Given the description of an element on the screen output the (x, y) to click on. 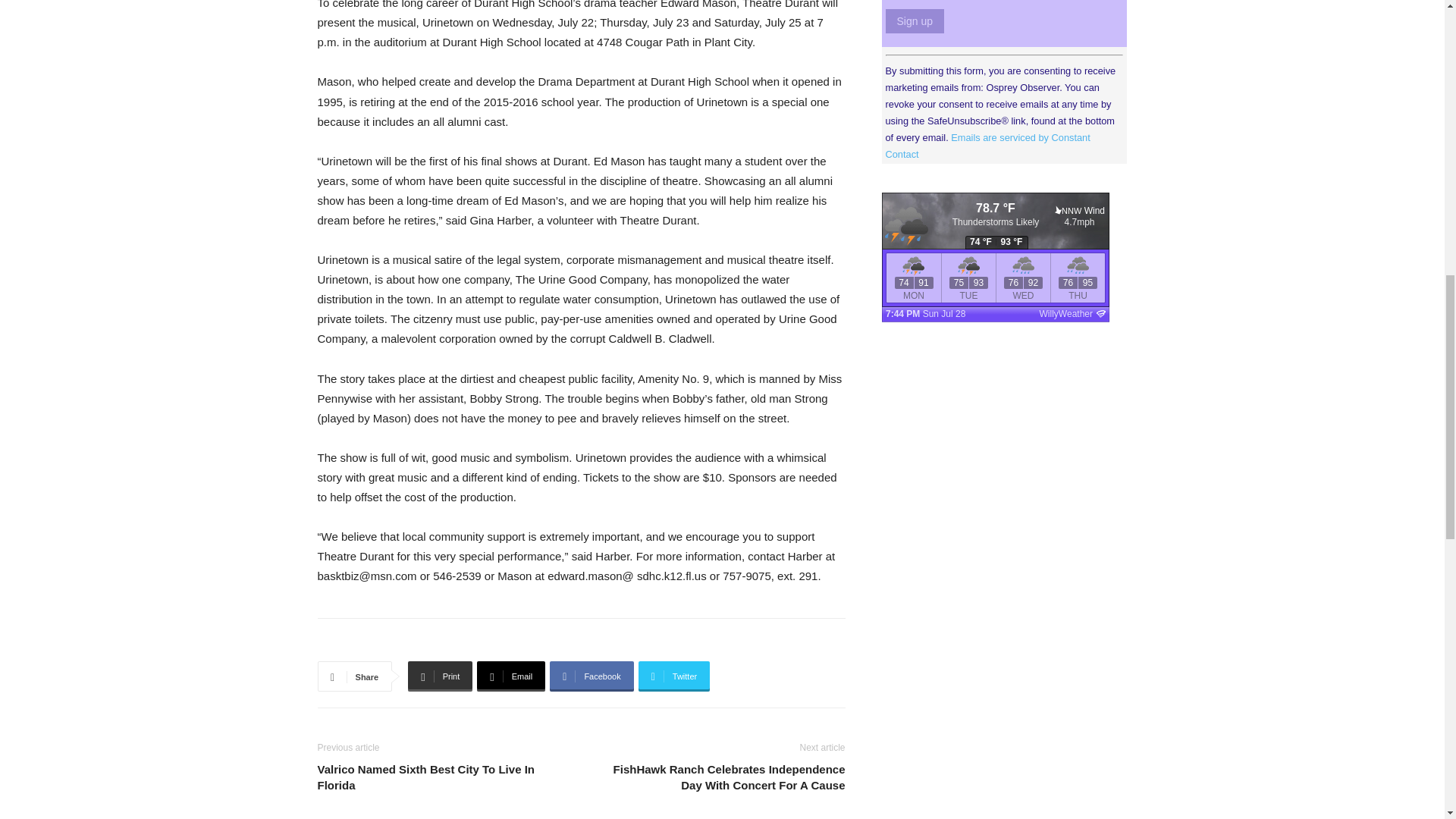
Email (510, 675)
Twitter (674, 675)
bottomFacebookLike (430, 642)
Sign up (914, 21)
Print (439, 675)
Facebook (591, 675)
